Given the description of an element on the screen output the (x, y) to click on. 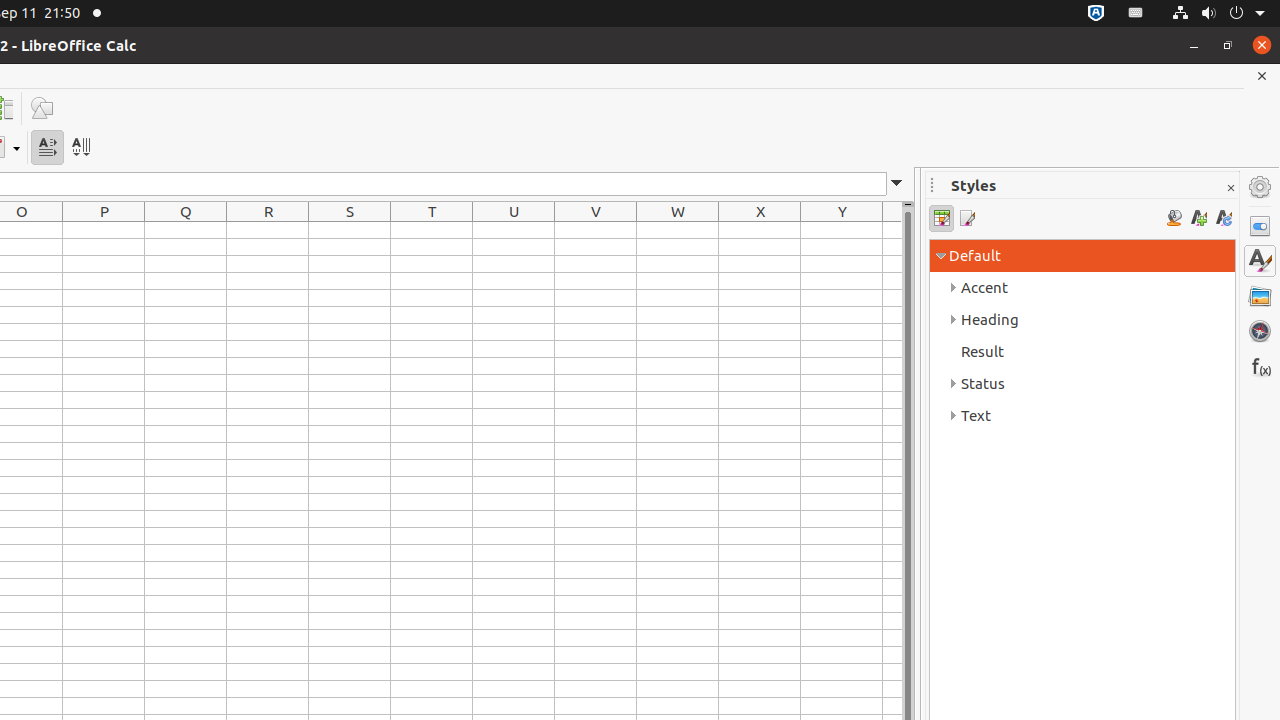
Properties Element type: radio-button (1260, 226)
Functions Element type: radio-button (1260, 366)
U1 Element type: table-cell (514, 230)
Y1 Element type: table-cell (842, 230)
